Given the description of an element on the screen output the (x, y) to click on. 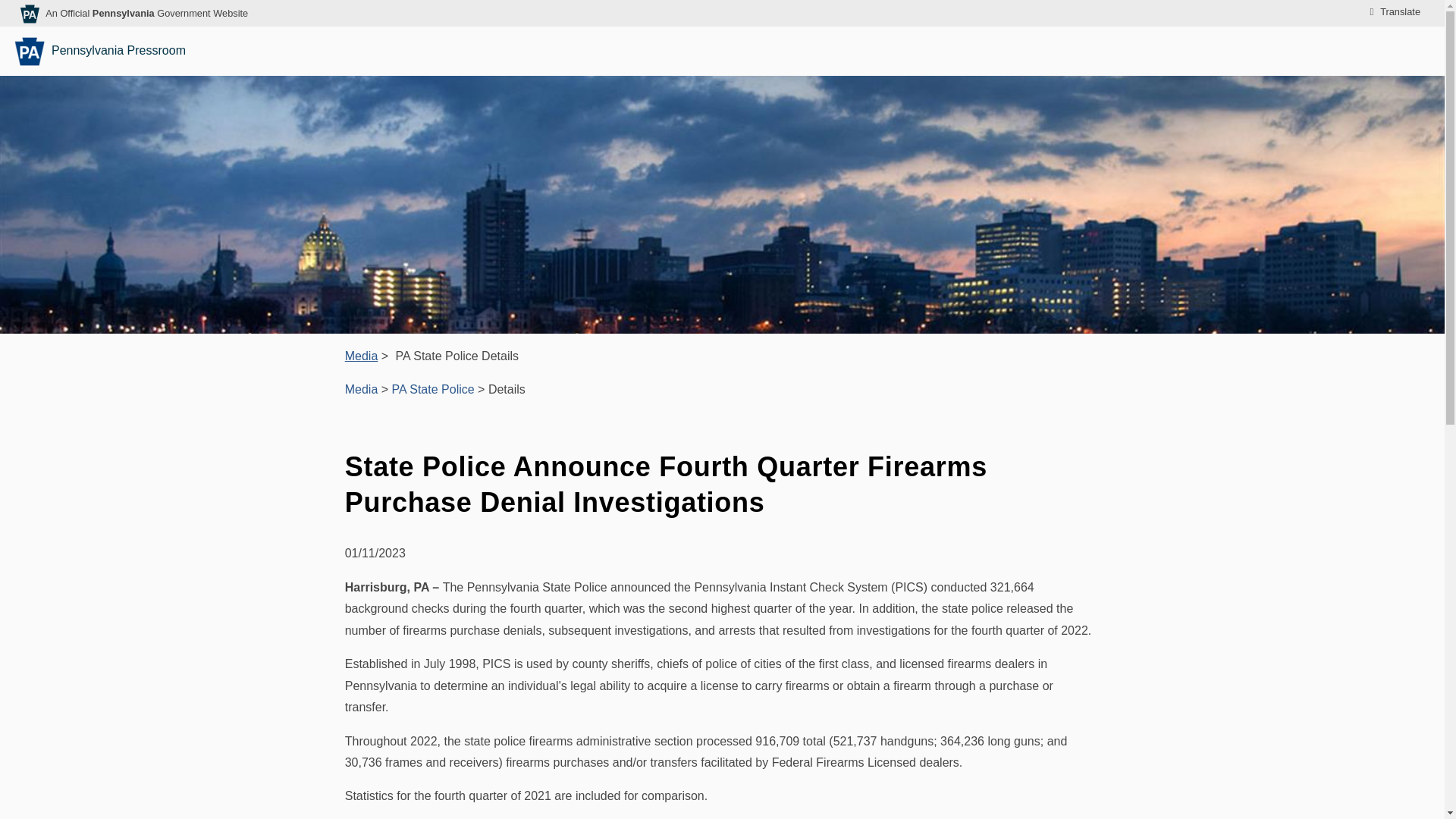
Media (361, 355)
PA State Police (432, 389)
Media (361, 389)
Pennsylvania Pressroom (101, 51)
Media (361, 355)
Translate (1393, 12)
An Official Pennsylvania Government Website (146, 11)
